Given the description of an element on the screen output the (x, y) to click on. 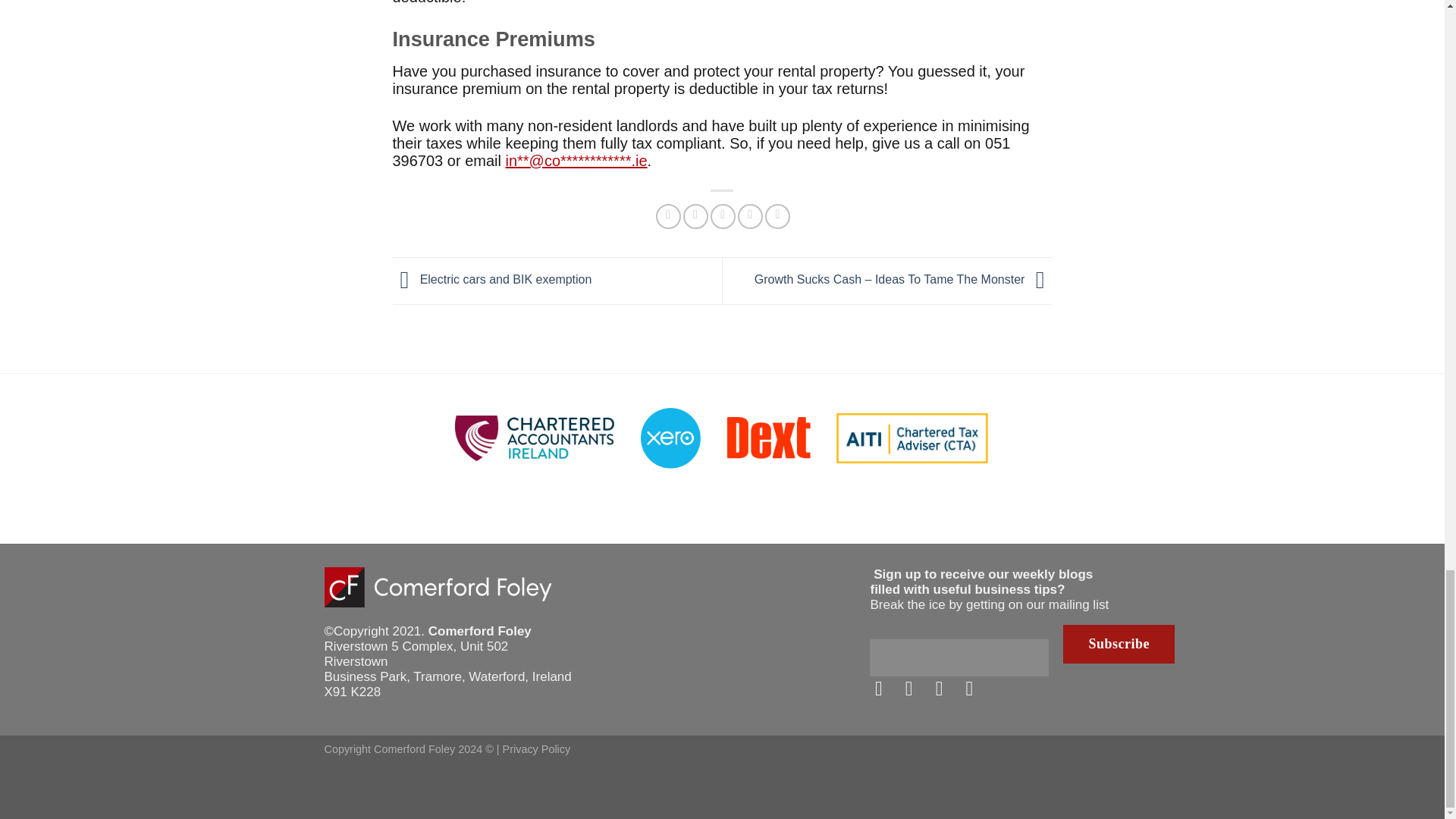
Privacy Policy (536, 748)
Subscribe (1118, 643)
Share on Twitter (694, 216)
Email to a Friend (722, 216)
Pin on Pinterest (750, 216)
Share on Facebook (668, 216)
Subscribe (1118, 643)
Share on LinkedIn (777, 216)
Electric cars and BIK exemption (492, 278)
